Given the description of an element on the screen output the (x, y) to click on. 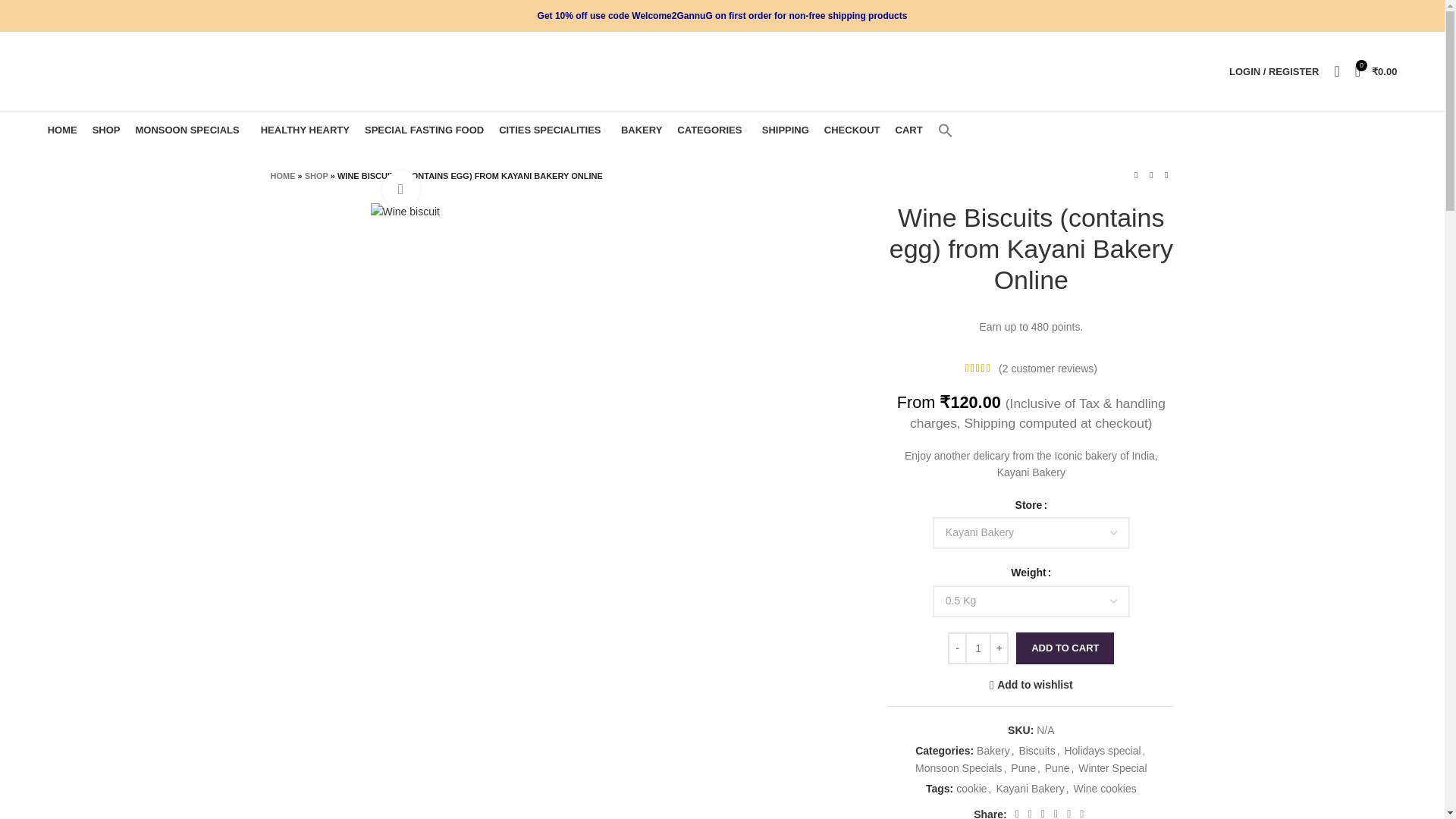
SPECIAL FASTING FOOD (424, 130)
Wine biscuit, Kayani Bakery (404, 211)
CITIES SPECIALITIES (552, 130)
Log in (1193, 312)
Shopping cart (1376, 71)
CATEGORIES (711, 130)
HEALTHY HEARTY (301, 130)
HOME (62, 130)
BAKERY (641, 130)
MONSOON SPECIALS (186, 130)
My account (1273, 71)
SHOP (106, 130)
